Given the description of an element on the screen output the (x, y) to click on. 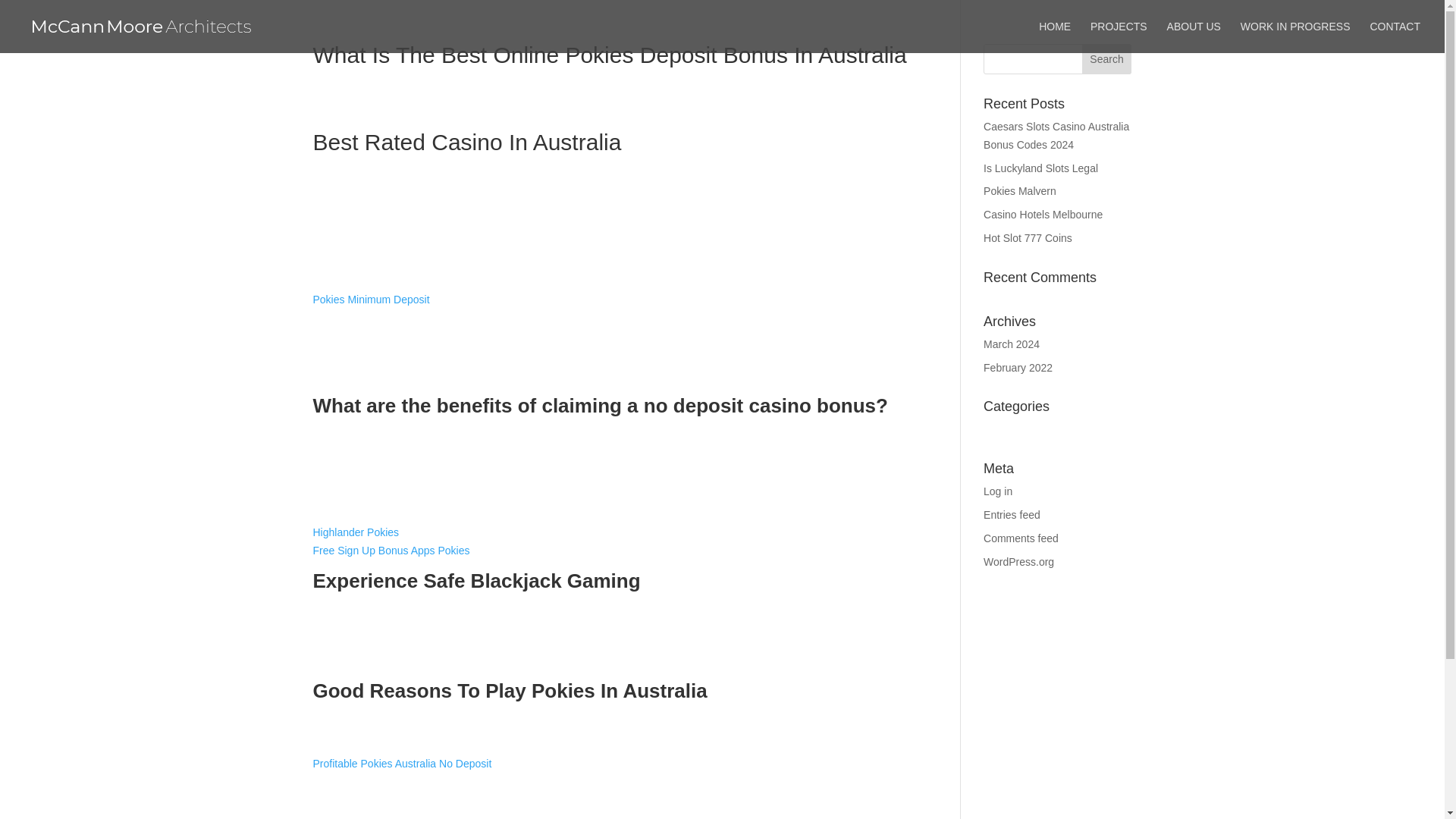
Is Luckyland Slots Legal (1040, 168)
HOME (1054, 37)
Caesars Slots Casino Australia Bonus Codes 2024 (1056, 135)
Log in (997, 491)
Search (1106, 59)
WORK IN PROGRESS (1295, 37)
Pokies Minimum Deposit (371, 299)
Free Sign Up Bonus Apps Pokies (390, 550)
February 2022 (1018, 367)
March 2024 (1011, 344)
